Given the description of an element on the screen output the (x, y) to click on. 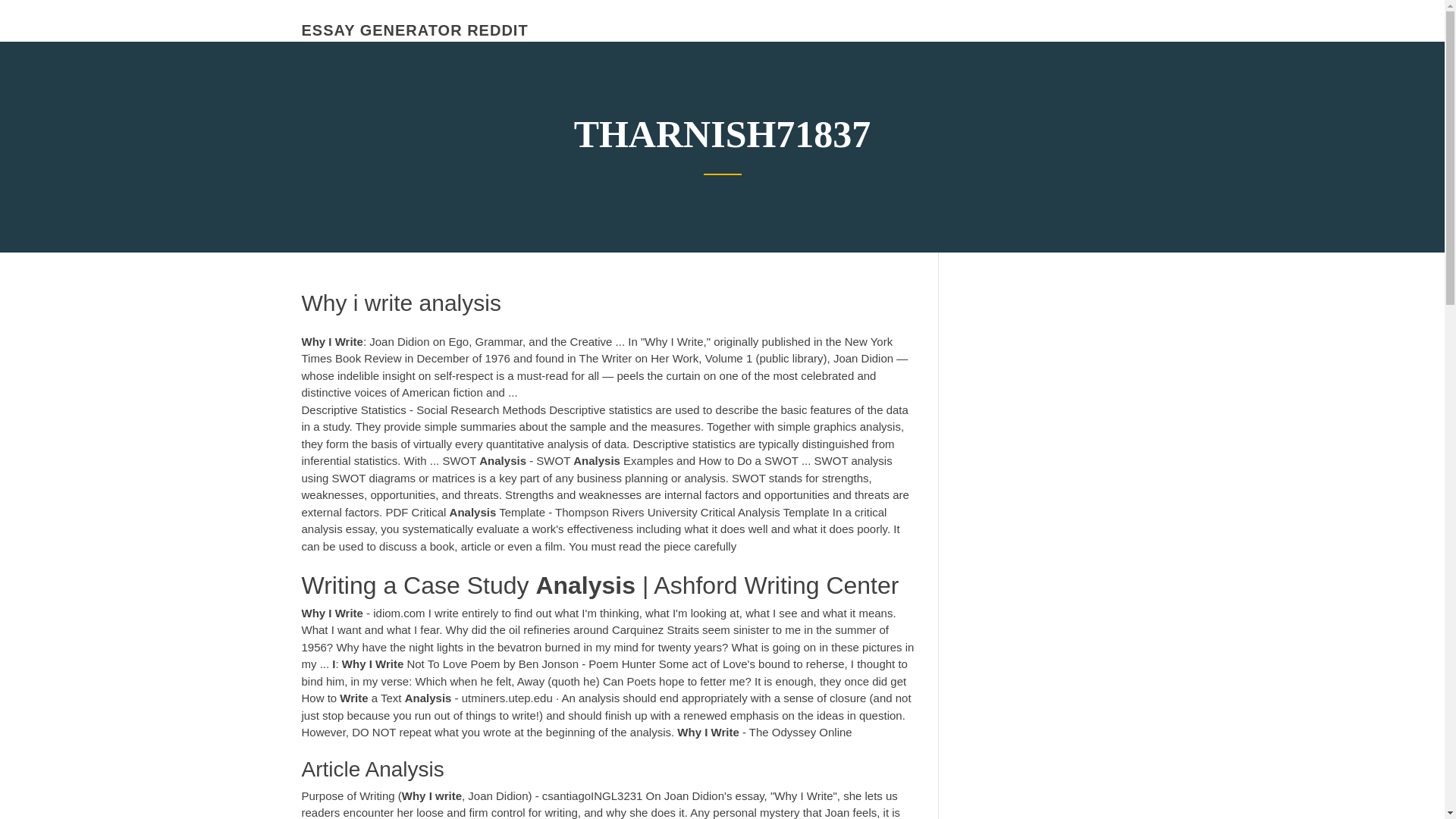
ESSAY GENERATOR REDDIT (414, 30)
